Given the description of an element on the screen output the (x, y) to click on. 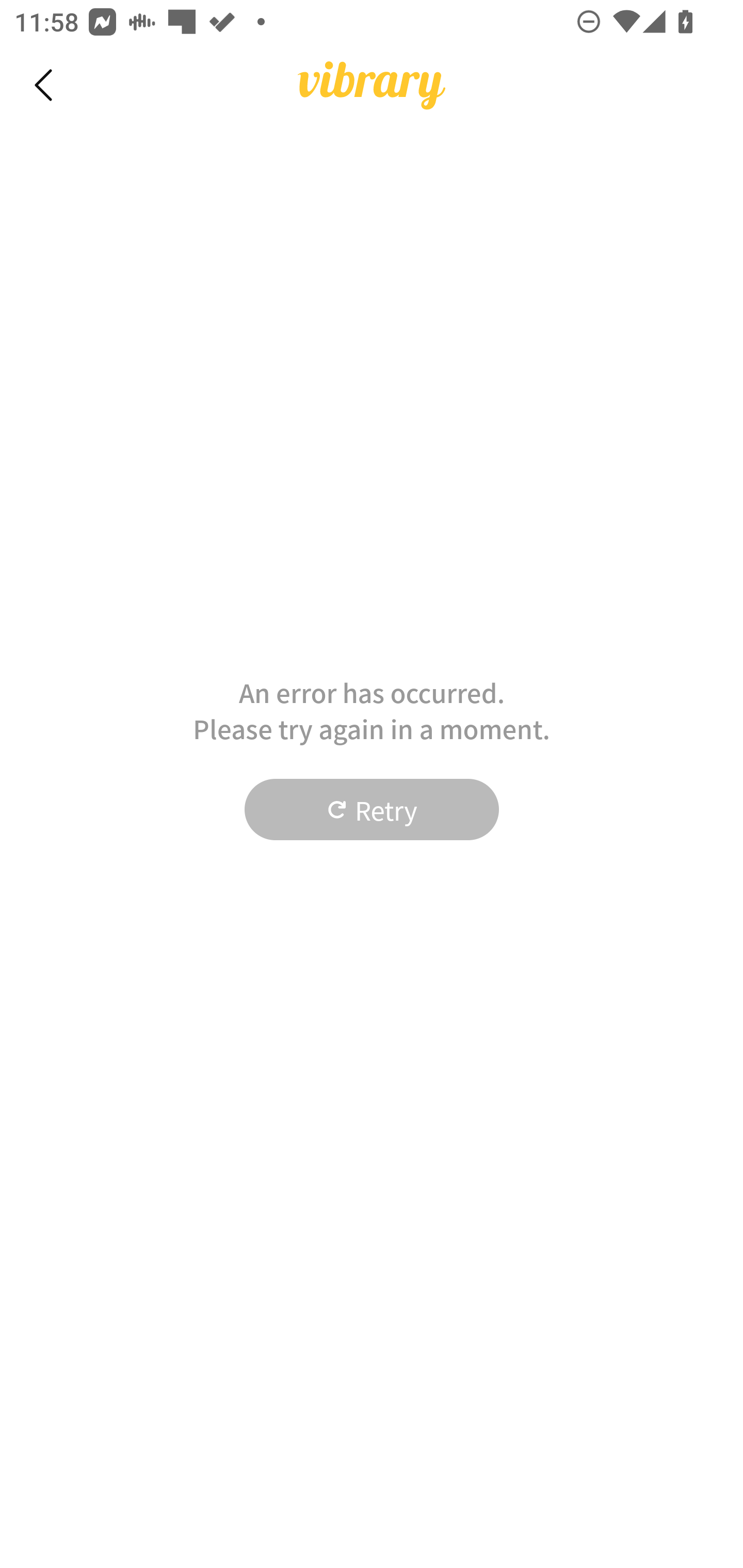
Retry (371, 809)
